Given the description of an element on the screen output the (x, y) to click on. 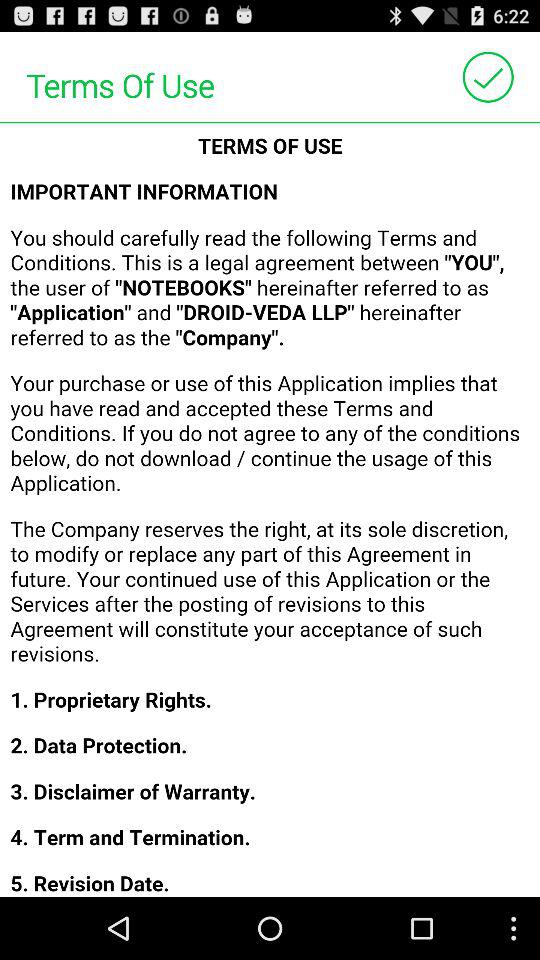
accept terms of use (487, 76)
